Given the description of an element on the screen output the (x, y) to click on. 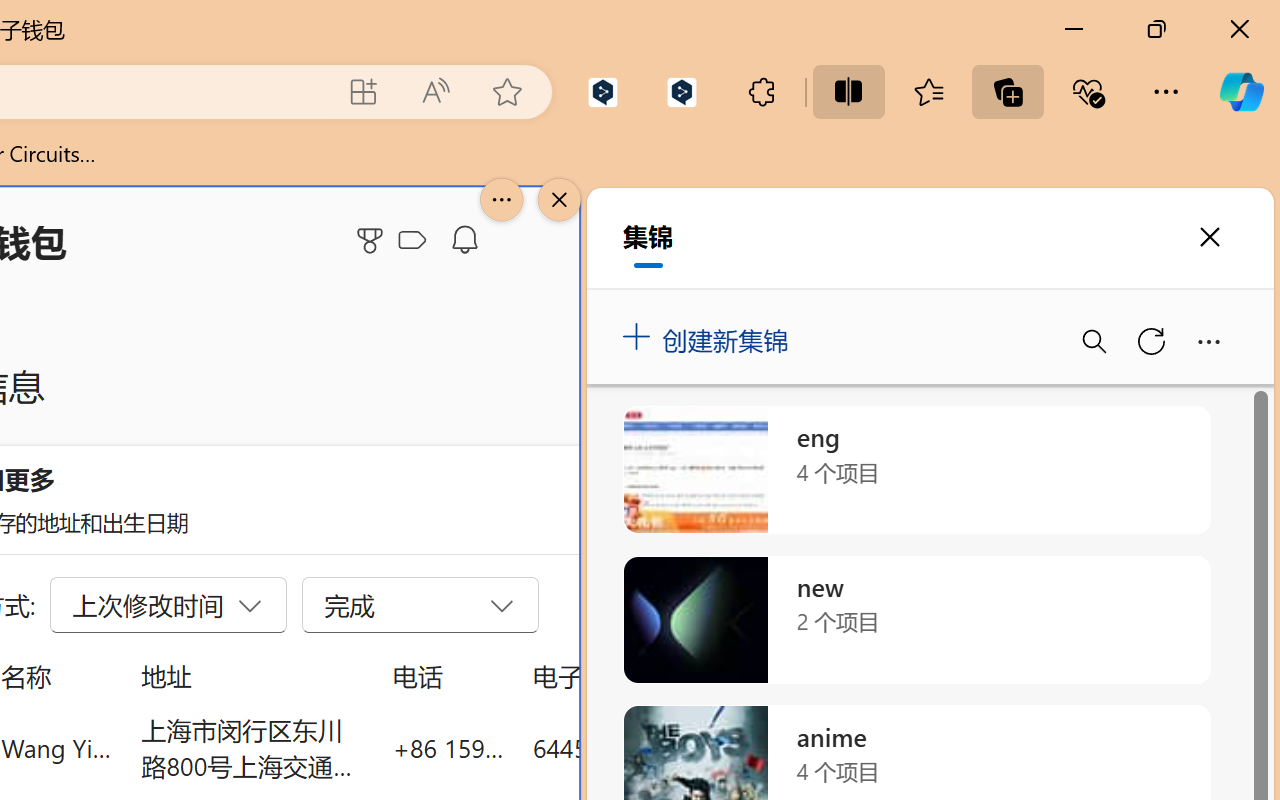
Copilot (Ctrl+Shift+.) (1241, 91)
+86 159 0032 4640 (447, 747)
Microsoft Cashback (415, 241)
